Given the description of an element on the screen output the (x, y) to click on. 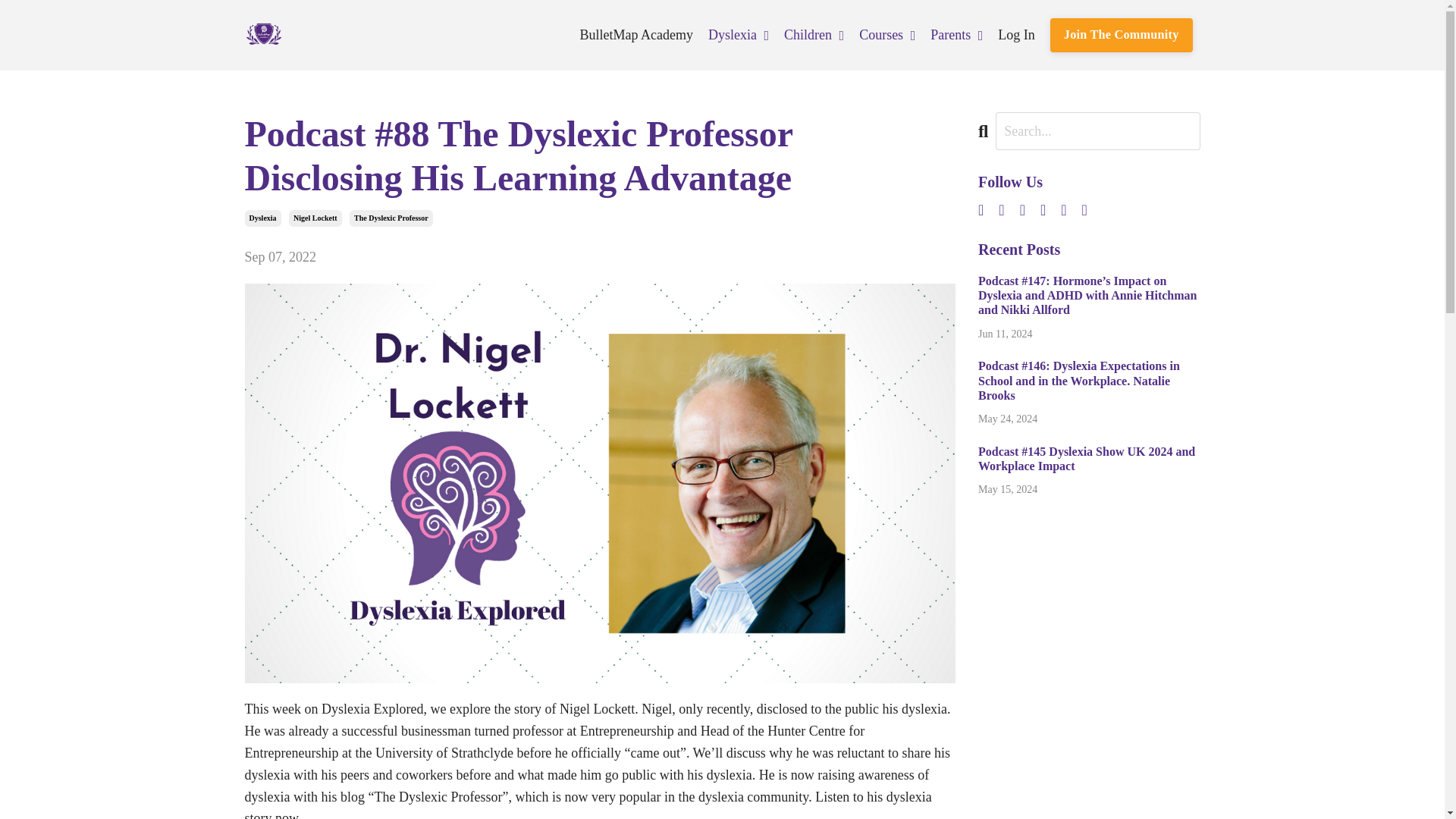
Log In (1016, 34)
Courses (887, 34)
The Dyslexic Professor (390, 217)
Join The Community (1120, 34)
Nigel Lockett (315, 217)
BulletMap Academy (636, 34)
Children (814, 34)
Dyslexia (262, 217)
Parents (956, 34)
Dyslexia (737, 34)
